Given the description of an element on the screen output the (x, y) to click on. 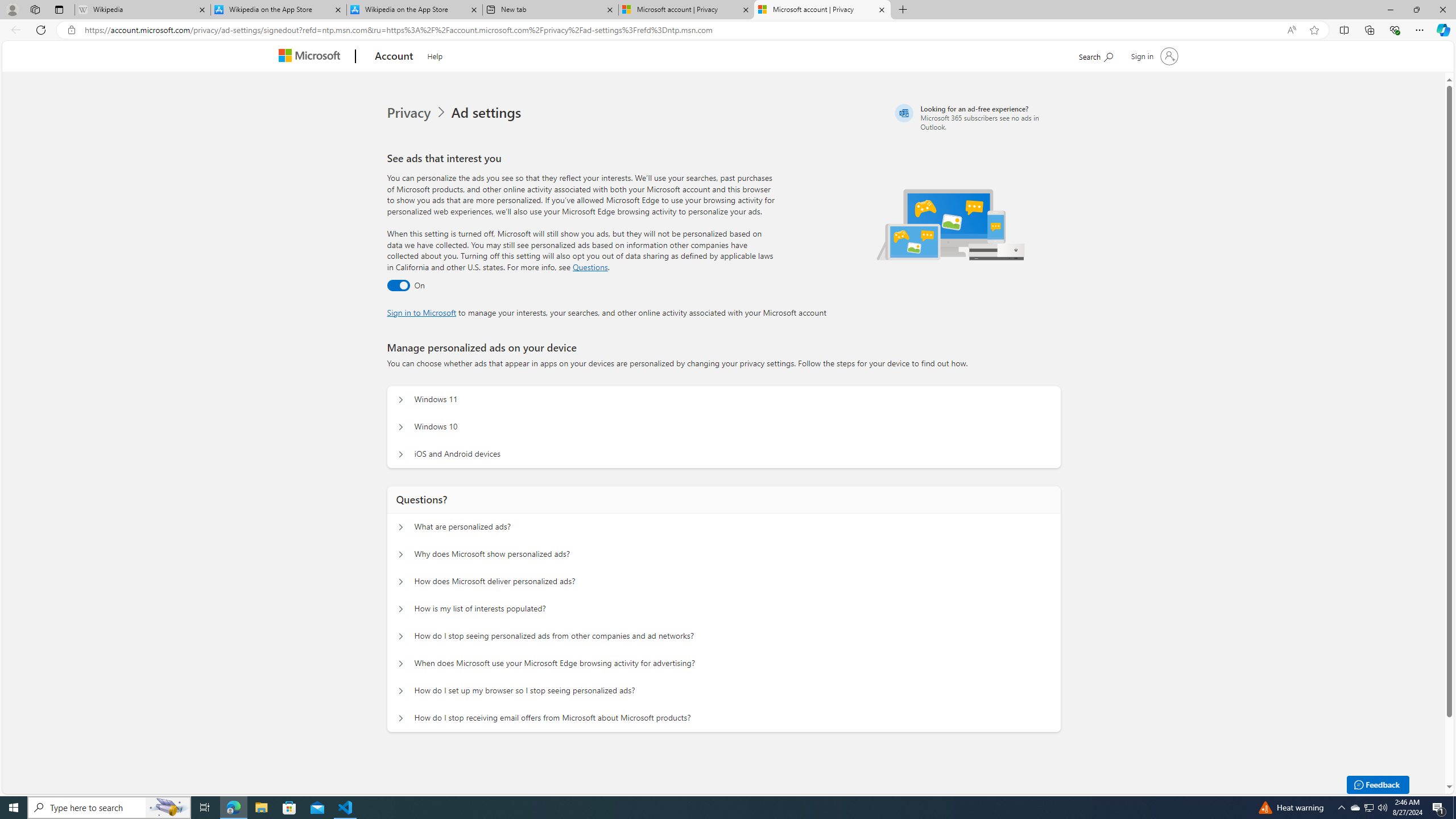
Questions? How does Microsoft deliver personalized ads? (401, 581)
Account (394, 56)
Questions? Why does Microsoft show personalized ads? (401, 554)
Illustration of multiple devices (951, 224)
